Given the description of an element on the screen output the (x, y) to click on. 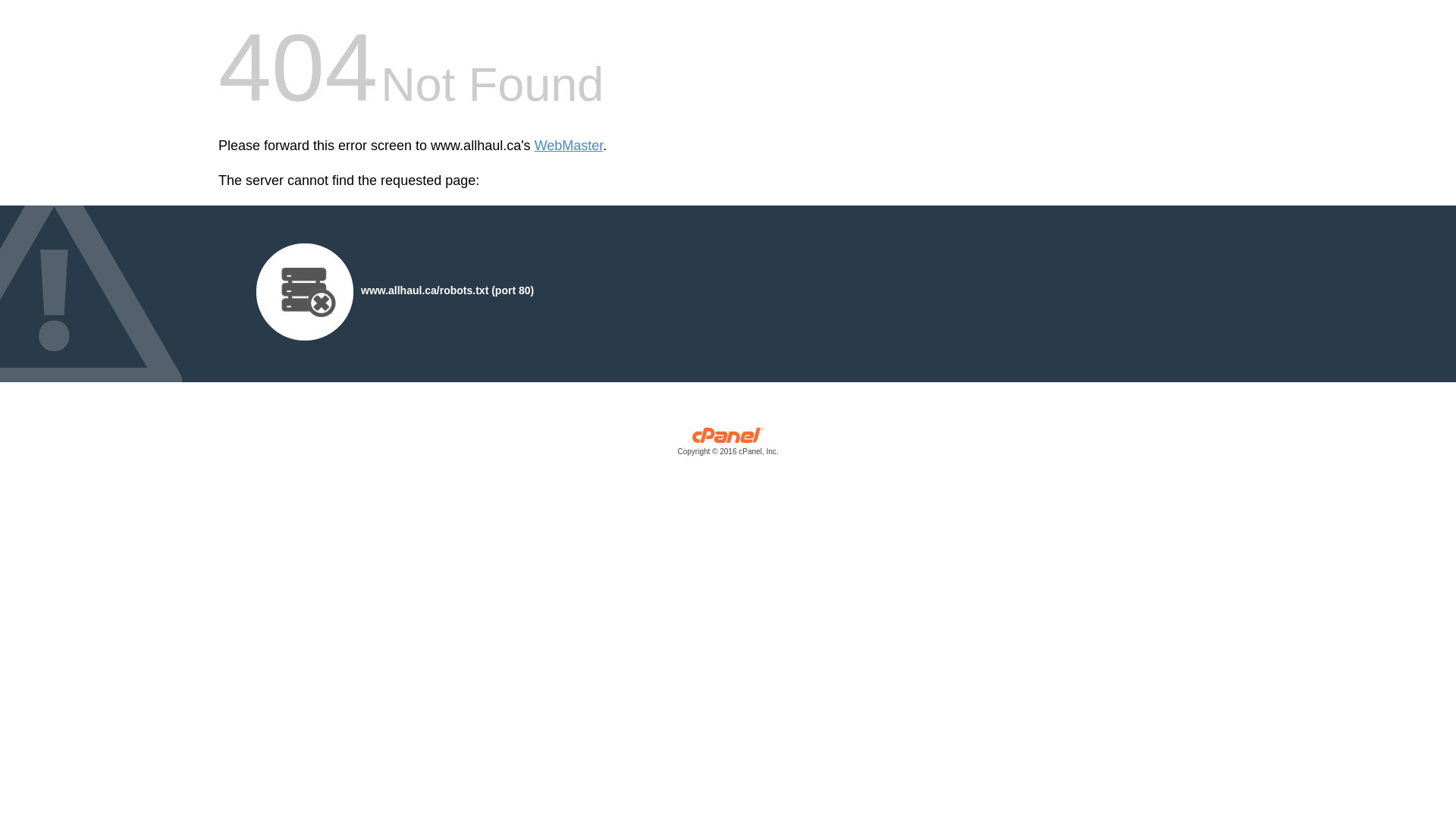
WebMaster Element type: text (568, 145)
